Given the description of an element on the screen output the (x, y) to click on. 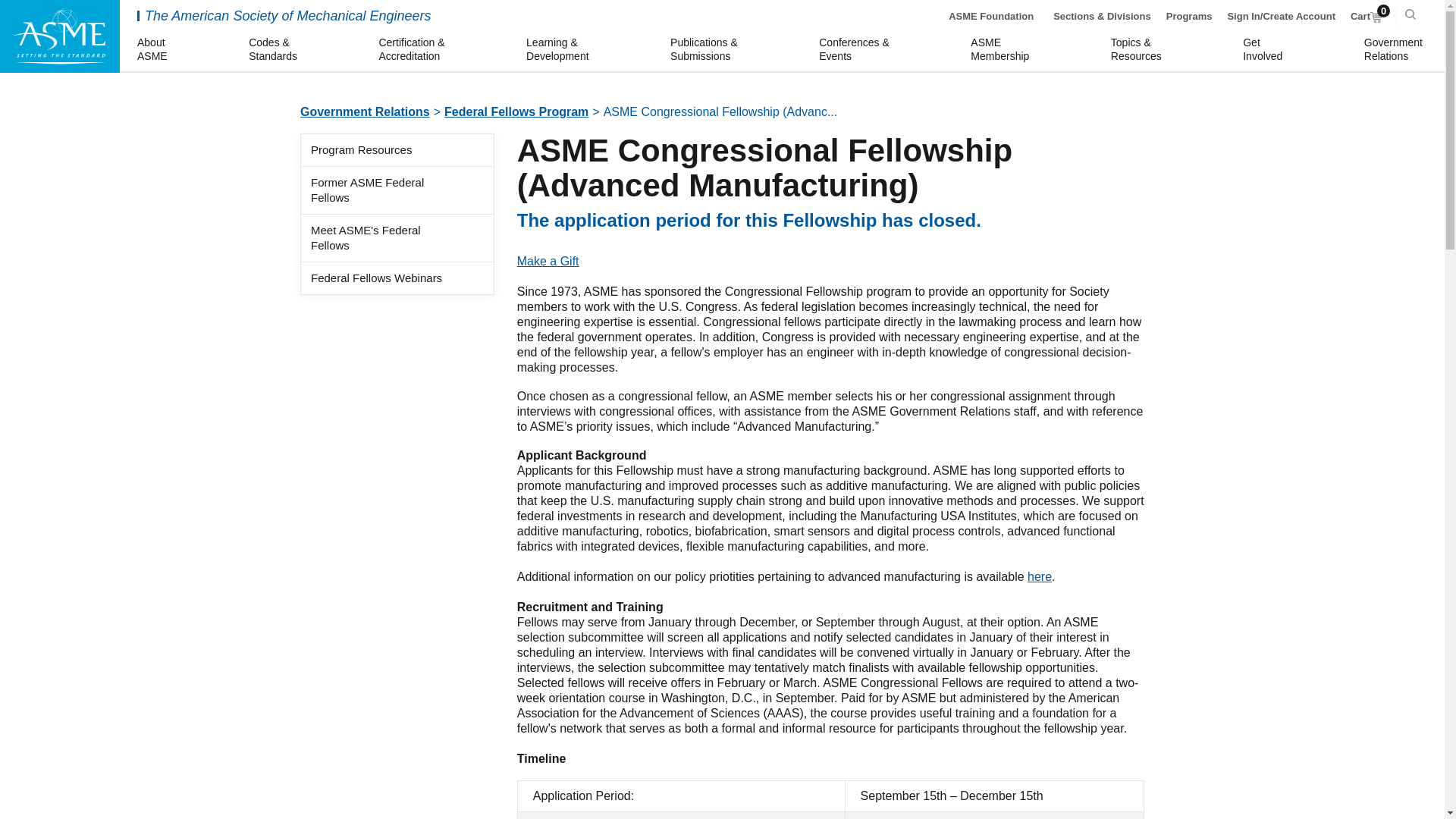
here (1265, 49)
Program Resources (1039, 576)
Government Relations (1395, 49)
Programs (1366, 16)
ASME (360, 150)
Federal Fellows Program (364, 111)
ASME Foundation (1189, 16)
Former ASME Federal Fellows (59, 36)
Federal Fellows Webinars (1002, 49)
Meet ASME's Federal Fellows (516, 111)
